Given the description of an element on the screen output the (x, y) to click on. 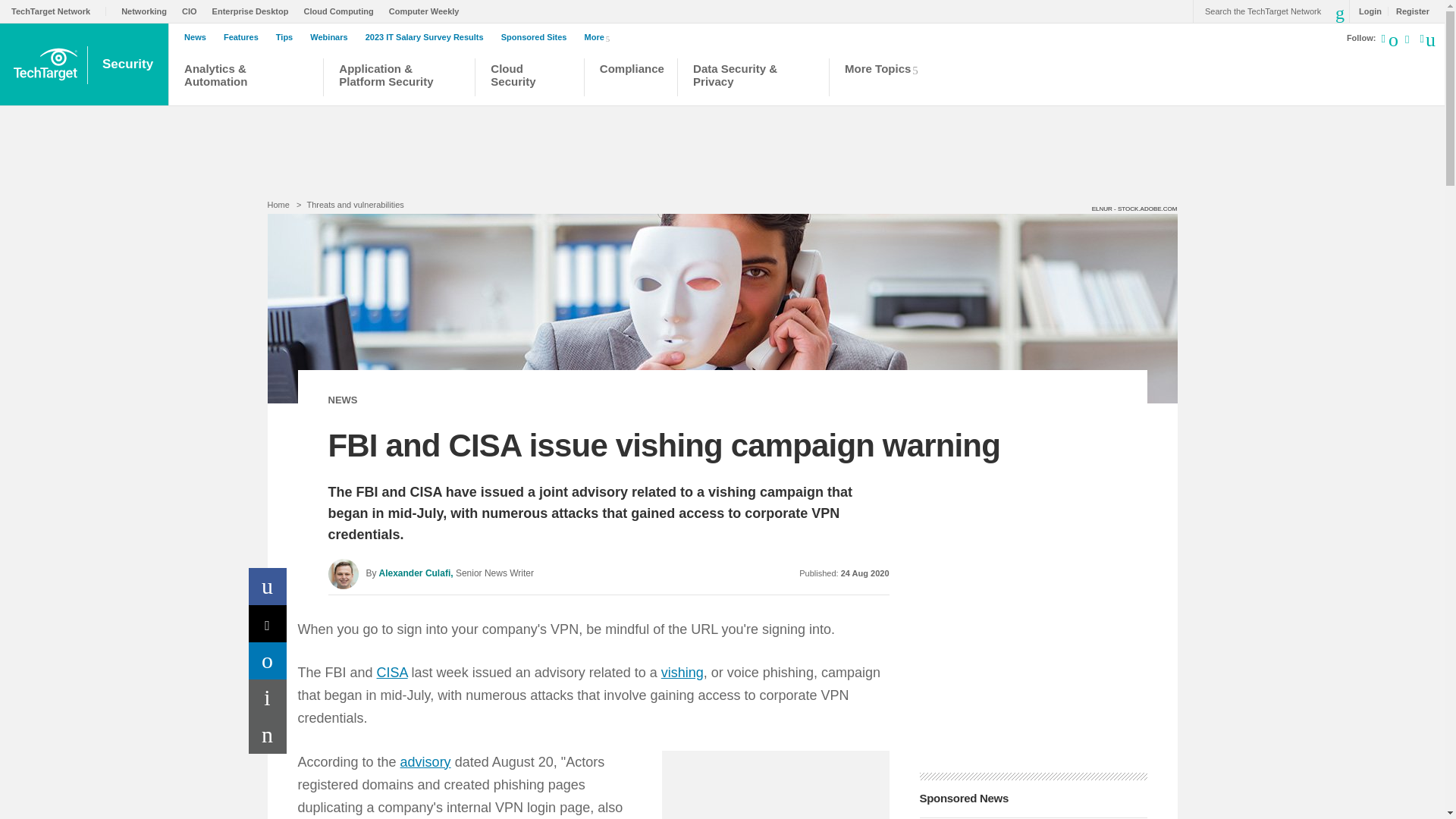
Email a Friend (267, 734)
Sponsored Sites (537, 36)
Computer Weekly (427, 10)
More Topics (885, 79)
TechTarget Network (58, 10)
News (199, 36)
More (600, 36)
Cloud Computing (341, 10)
Tips (287, 36)
Compliance (630, 79)
Enterprise Desktop (254, 10)
Login (1366, 10)
Cloud Security (528, 79)
Security (129, 64)
CIO (193, 10)
